Given the description of an element on the screen output the (x, y) to click on. 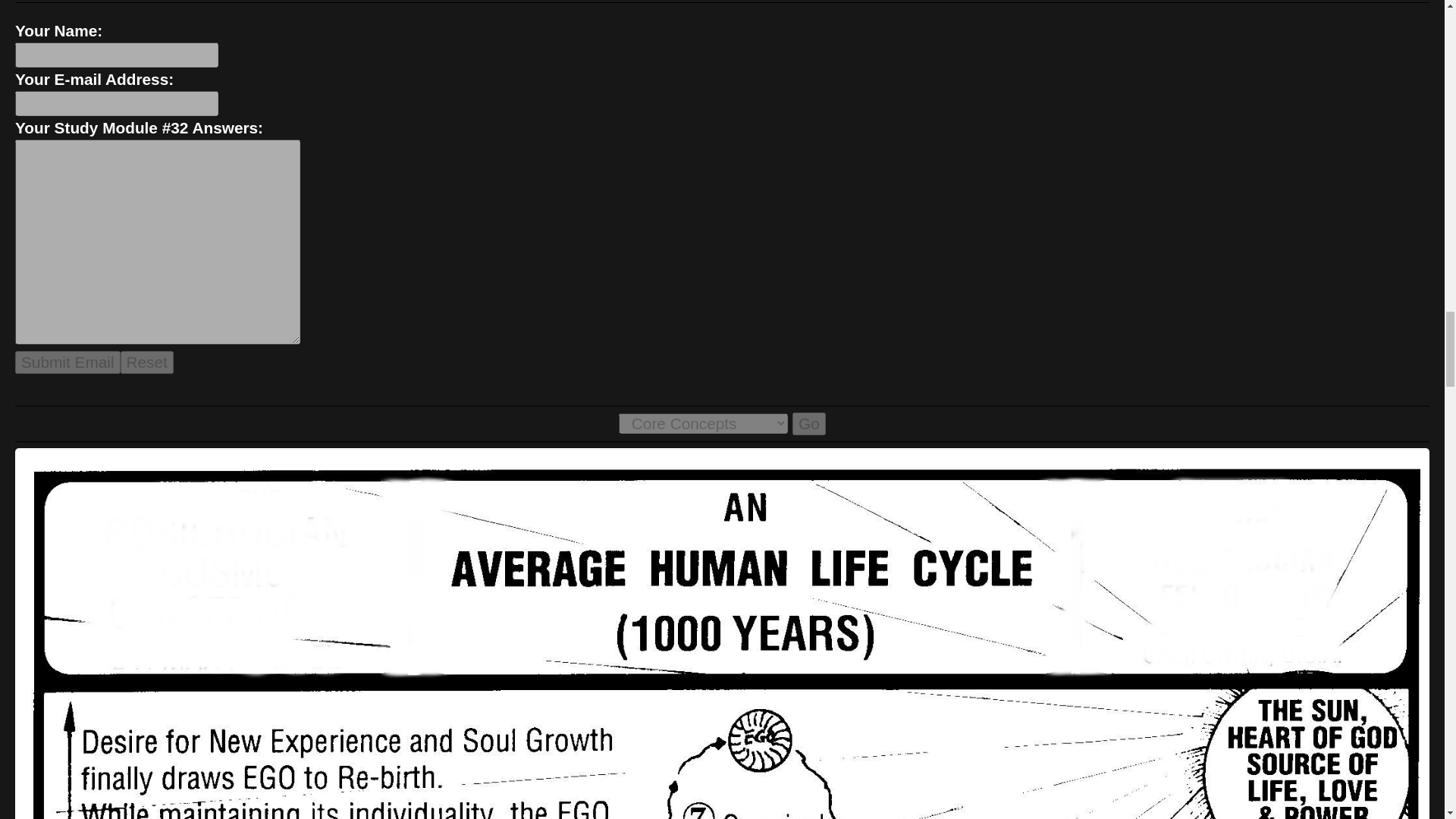
Submit Email (67, 362)
Reset (146, 362)
Submit Email (67, 362)
Go (808, 423)
